Given the description of an element on the screen output the (x, y) to click on. 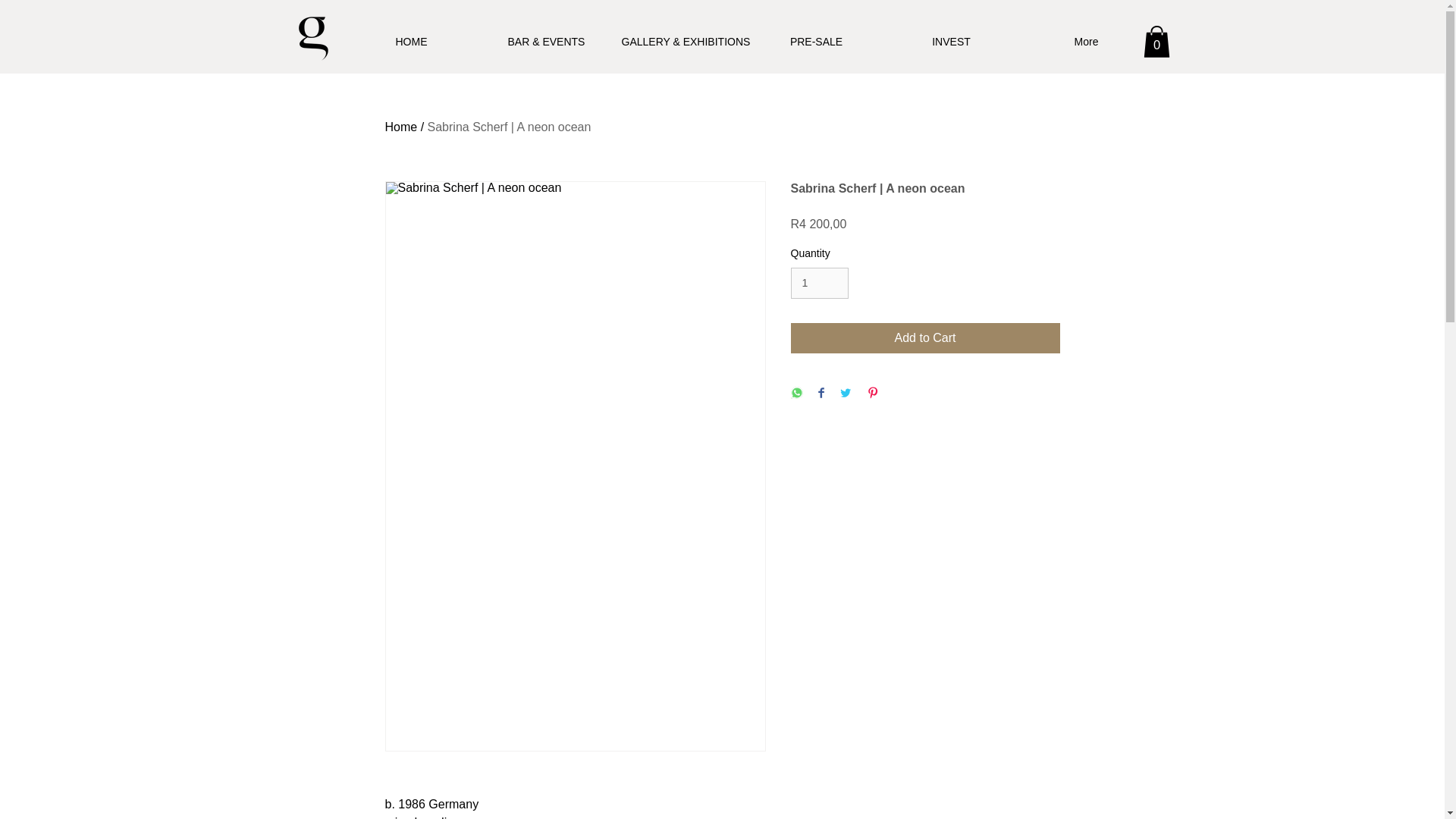
PRE-SALE (816, 41)
Add to Cart (924, 337)
1 (818, 282)
HOME (411, 41)
Home (401, 126)
INVEST (951, 41)
